Given the description of an element on the screen output the (x, y) to click on. 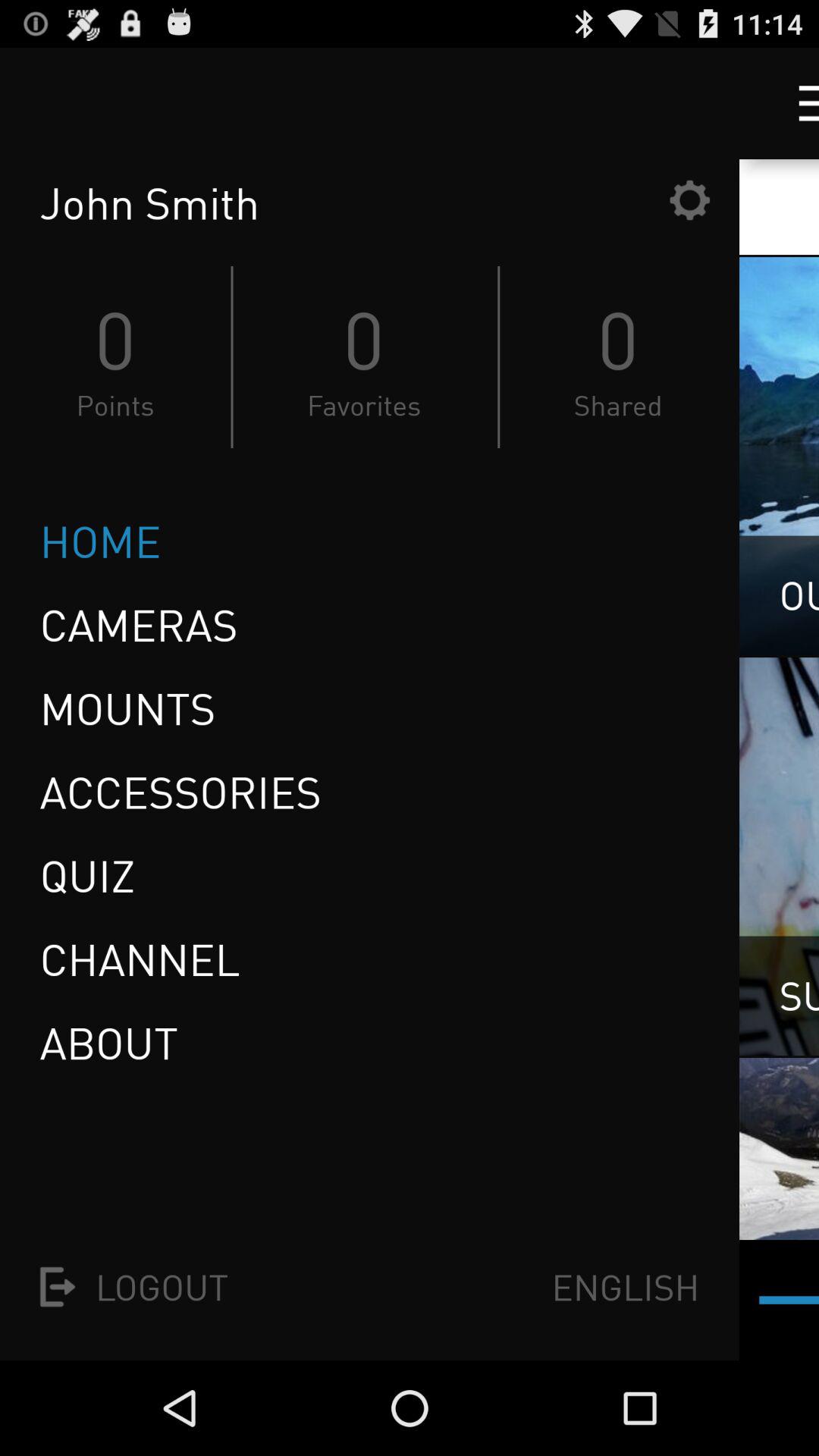
turn on home icon (99, 541)
